Given the description of an element on the screen output the (x, y) to click on. 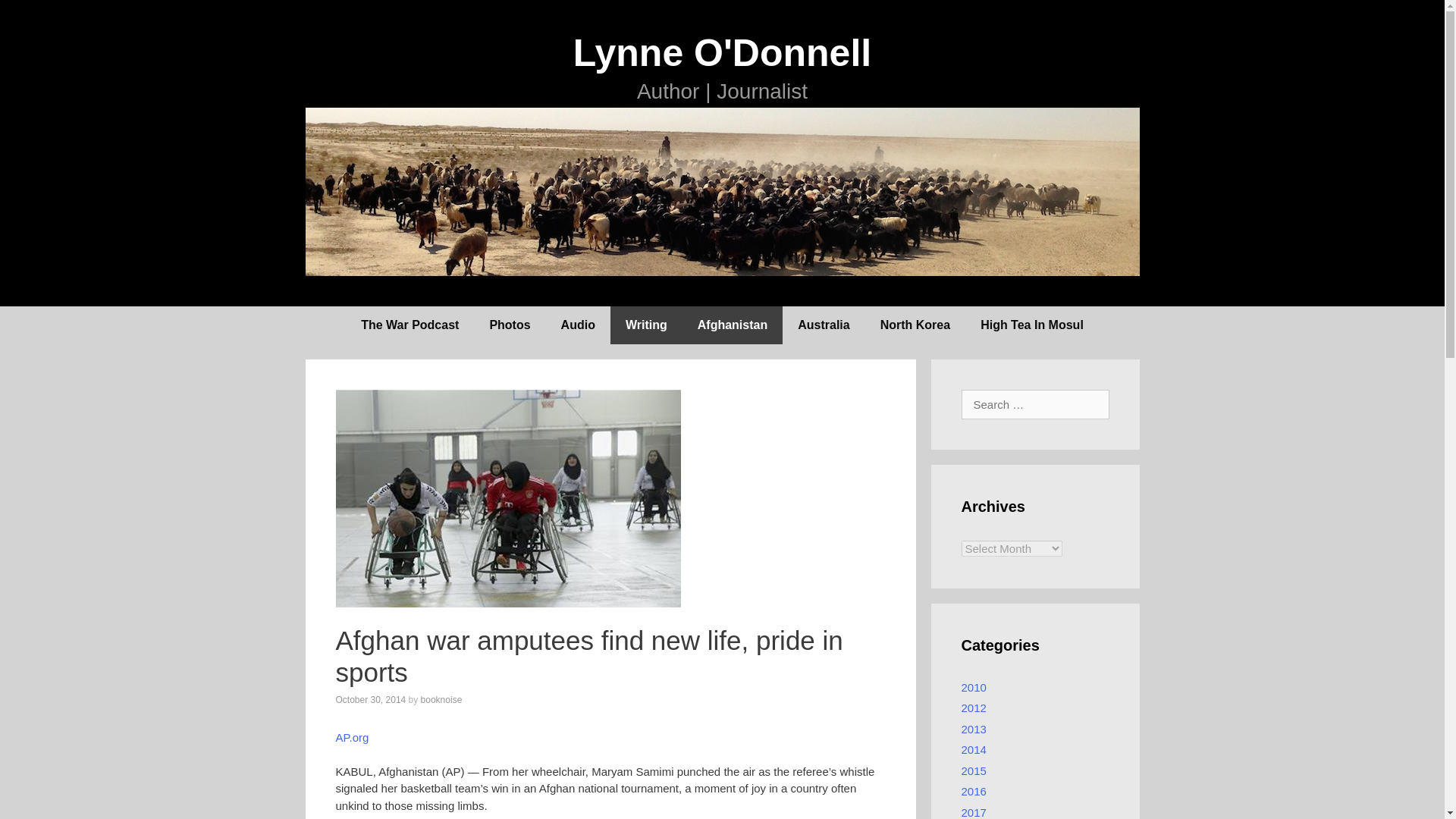
The War Podcast (410, 324)
Lynne O'Donnell (721, 52)
AP.org (351, 737)
2013 (973, 727)
2015 (973, 770)
2010 (973, 686)
2012 (973, 707)
High Tea In Mosul (1032, 324)
Lynne O'Donnell (721, 52)
2017 (973, 811)
Lynne O'Donnell (721, 190)
Afghanistan (732, 324)
North Korea (914, 324)
Australia (823, 324)
Search (29, 13)
